Given the description of an element on the screen output the (x, y) to click on. 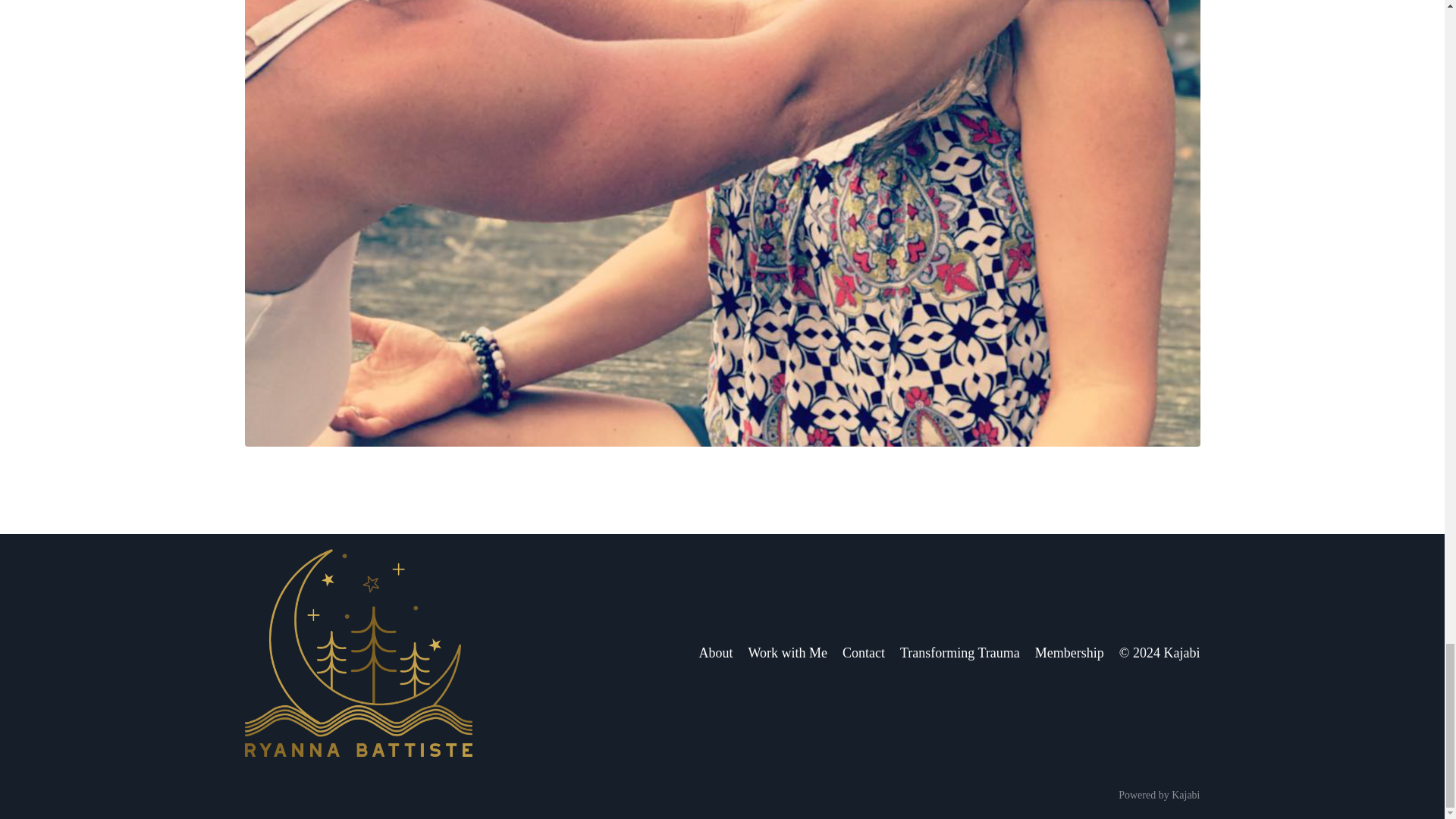
Powered by Kajabi (1158, 794)
Contact (864, 653)
About (715, 653)
Membership (1069, 653)
Transforming Trauma (959, 653)
Work with Me (787, 653)
